Given the description of an element on the screen output the (x, y) to click on. 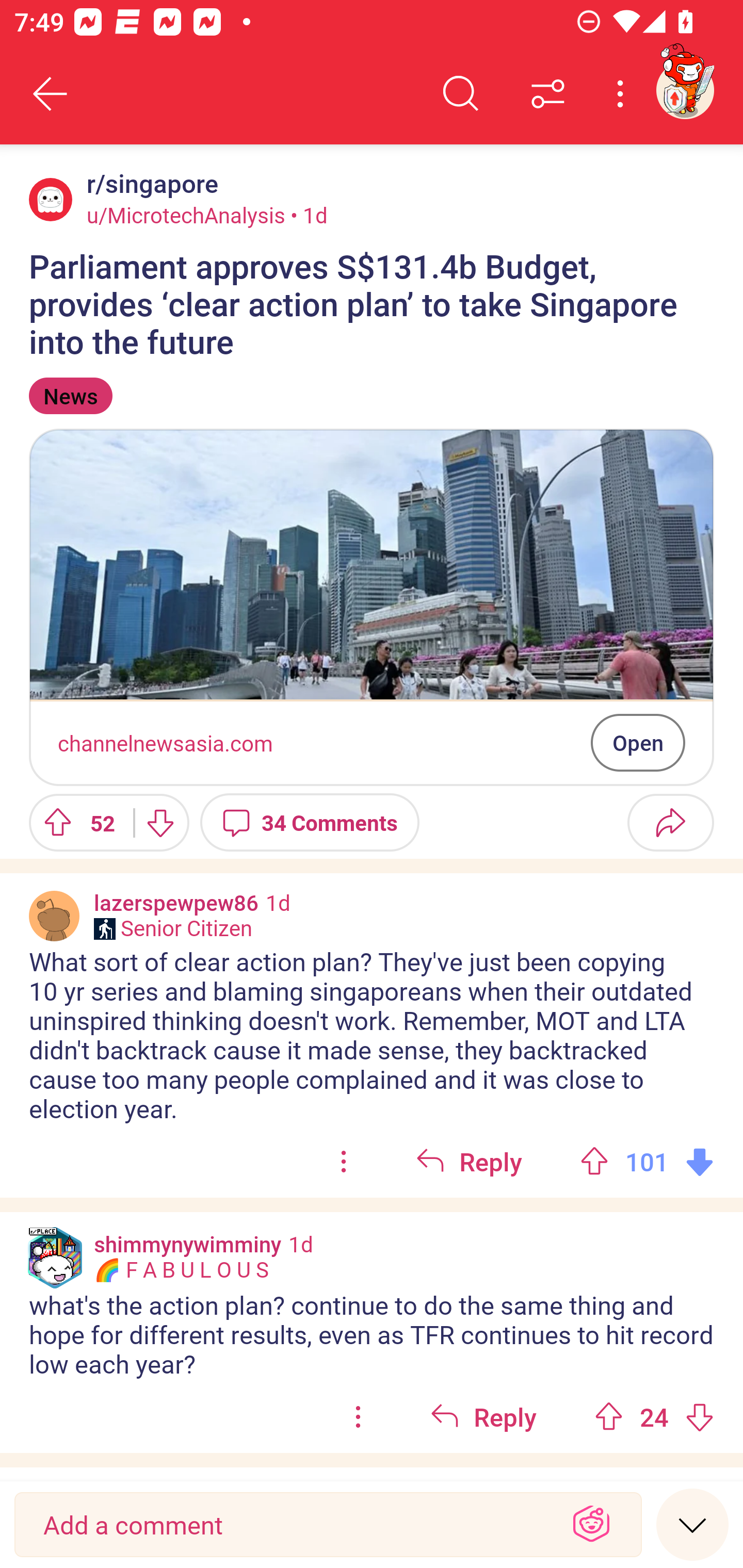
Back (50, 93)
TestAppium002 account (685, 90)
Search comments (460, 93)
Sort comments (547, 93)
More options (623, 93)
r/singapore (148, 183)
Avatar (50, 199)
News (70, 395)
Preview Image channelnewsasia.com Open (371, 606)
Open (637, 742)
Upvote 52 (73, 822)
Downvote (158, 822)
34 Comments (309, 822)
Share (670, 822)
Avatar (53, 915)
￼ Senior Citizen (172, 927)
options (343, 1161)
Reply (469, 1161)
Upvote 101 101 votes Downvote (647, 1161)
🌈 F A B U L O U S (180, 1269)
options (358, 1417)
Reply (483, 1417)
Upvote 24 24 votes Downvote (654, 1417)
Speed read (692, 1524)
Add a comment (291, 1524)
Show Expressions (590, 1524)
